Given the description of an element on the screen output the (x, y) to click on. 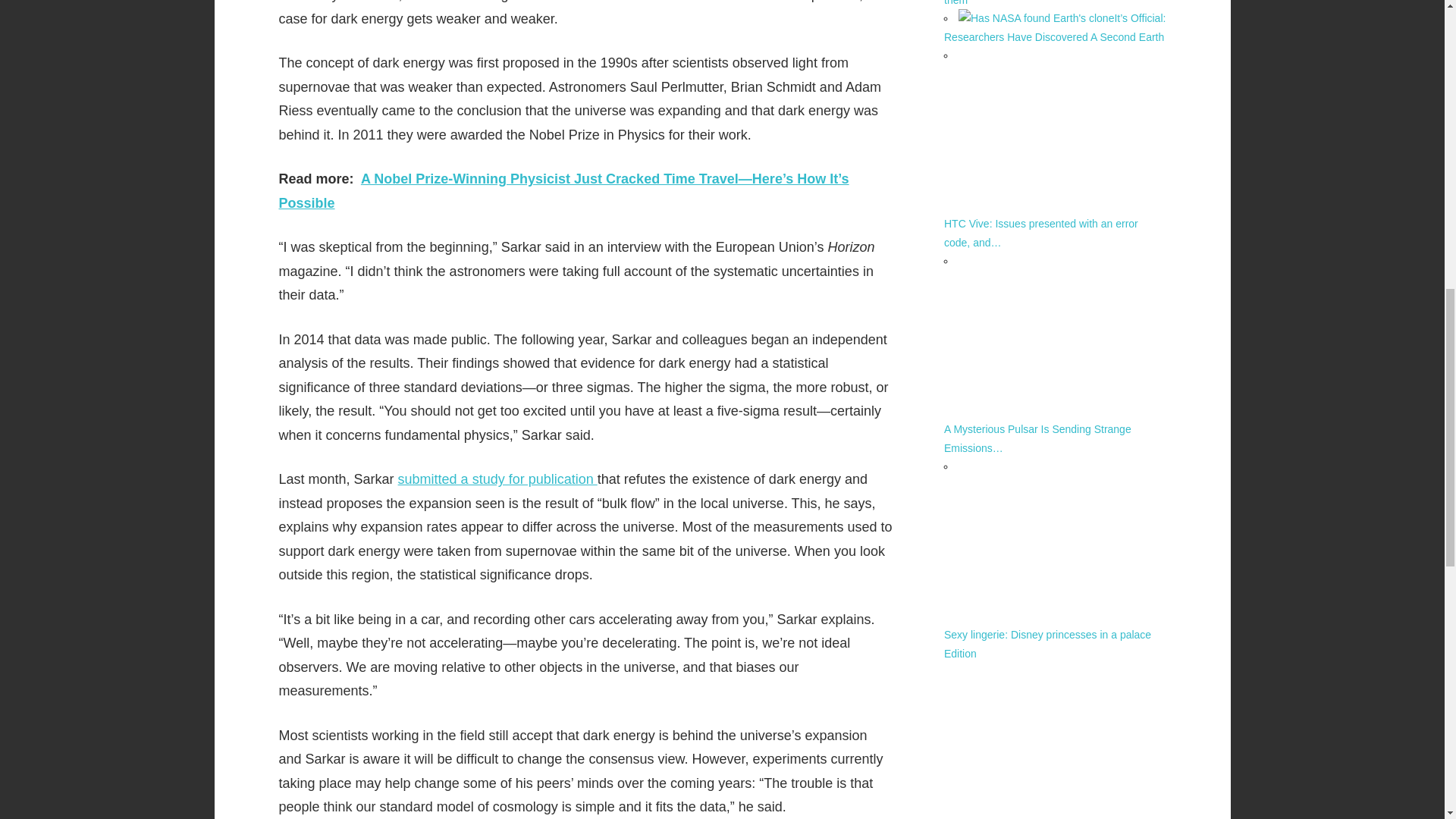
HTC Vive: Wireless Adapter problems, and how to fix them (1042, 2)
submitted a study for publication (496, 478)
